Given the description of an element on the screen output the (x, y) to click on. 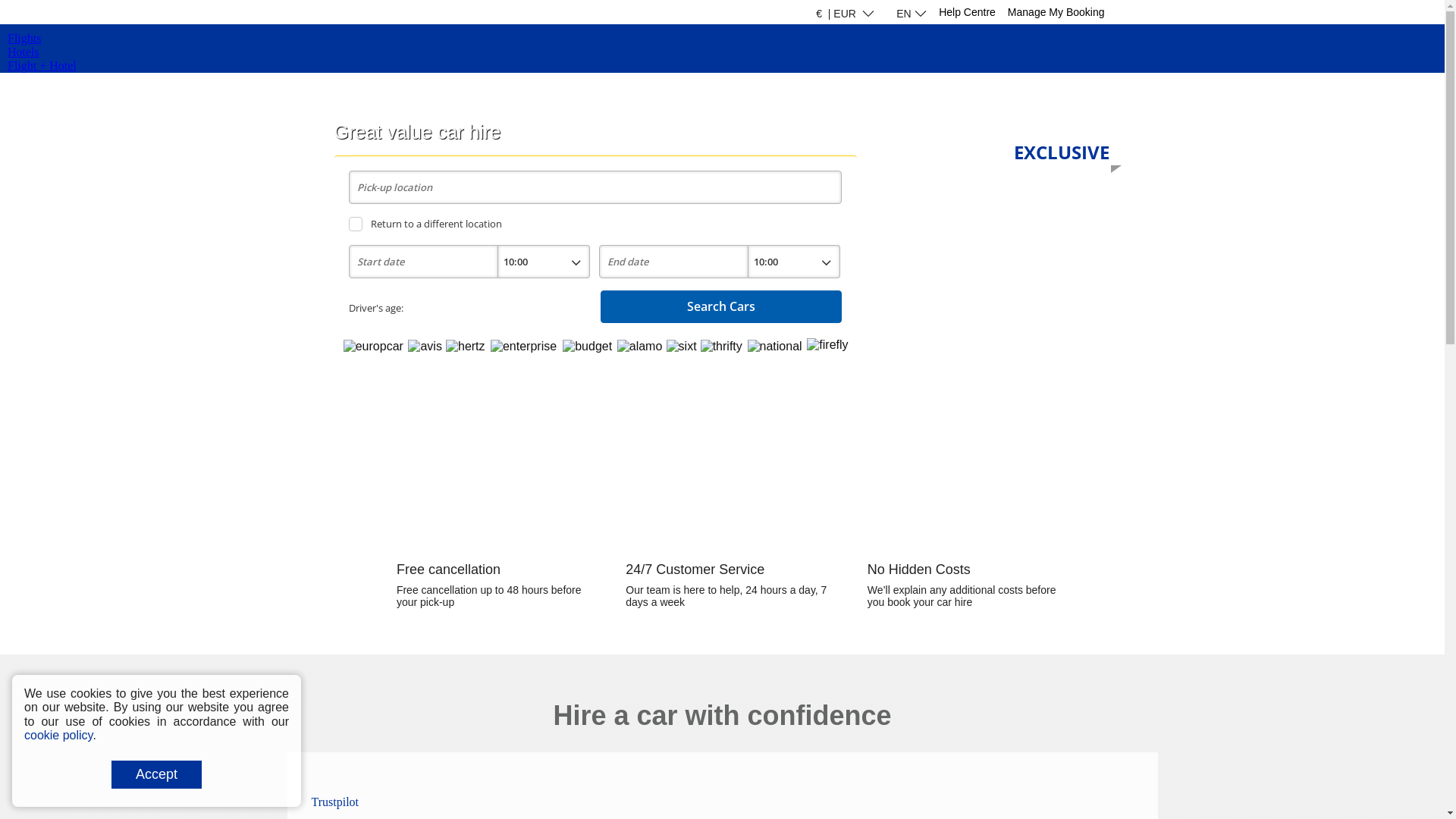
cookie policy Element type: text (58, 734)
Help Centre Element type: text (966, 12)
Accept Element type: text (156, 774)
Manage My Booking Element type: text (1055, 12)
Search Cars Element type: text (721, 306)
Trustpilot Element type: text (334, 801)
